Given the description of an element on the screen output the (x, y) to click on. 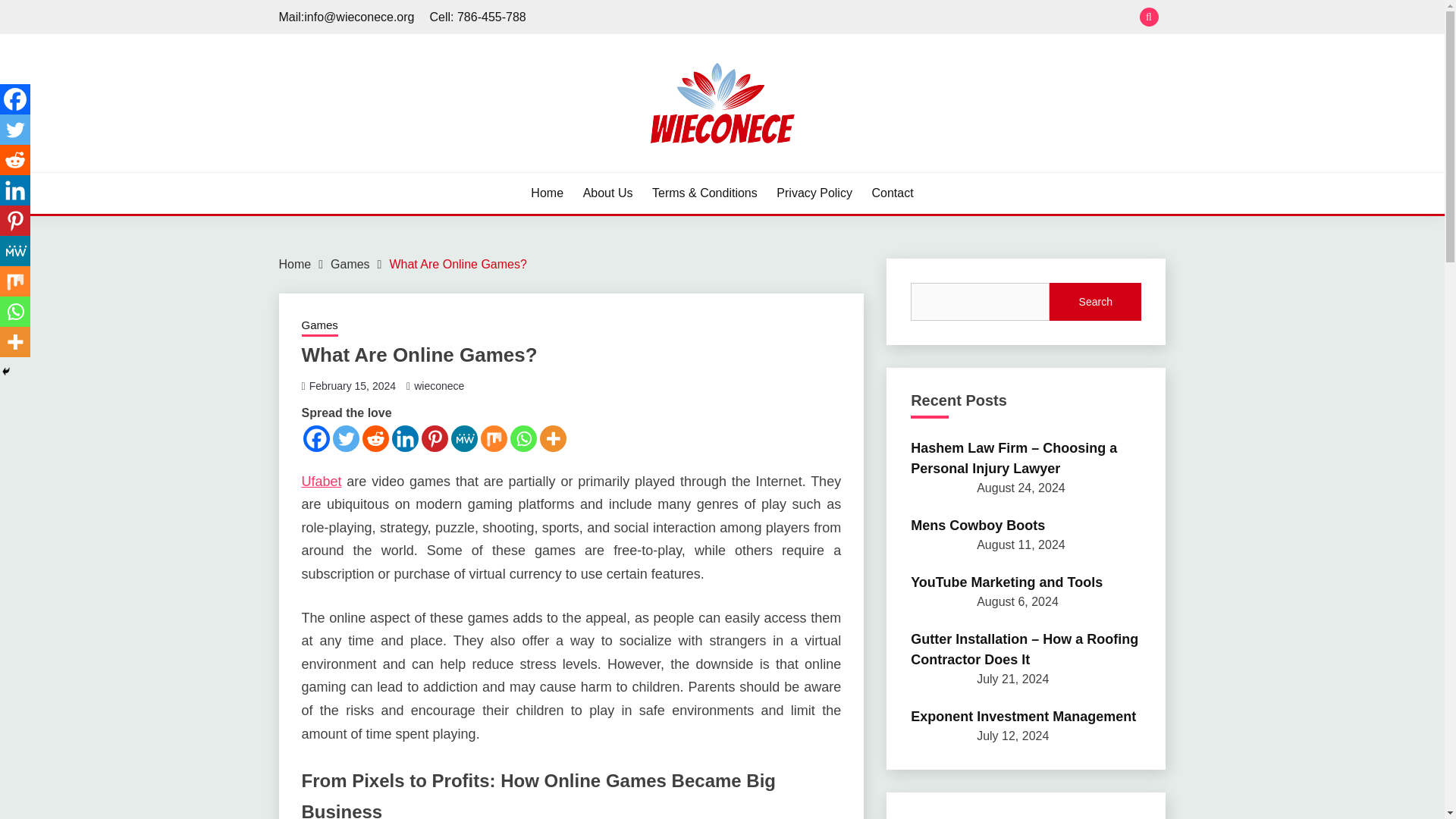
Whatsapp (522, 438)
Facebook (316, 438)
Contact (893, 193)
About Us (608, 193)
Reddit (375, 438)
wieconece (438, 386)
Linkedin (404, 438)
Reddit (15, 159)
Home (295, 264)
What Are Online Games? (456, 264)
